Given the description of an element on the screen output the (x, y) to click on. 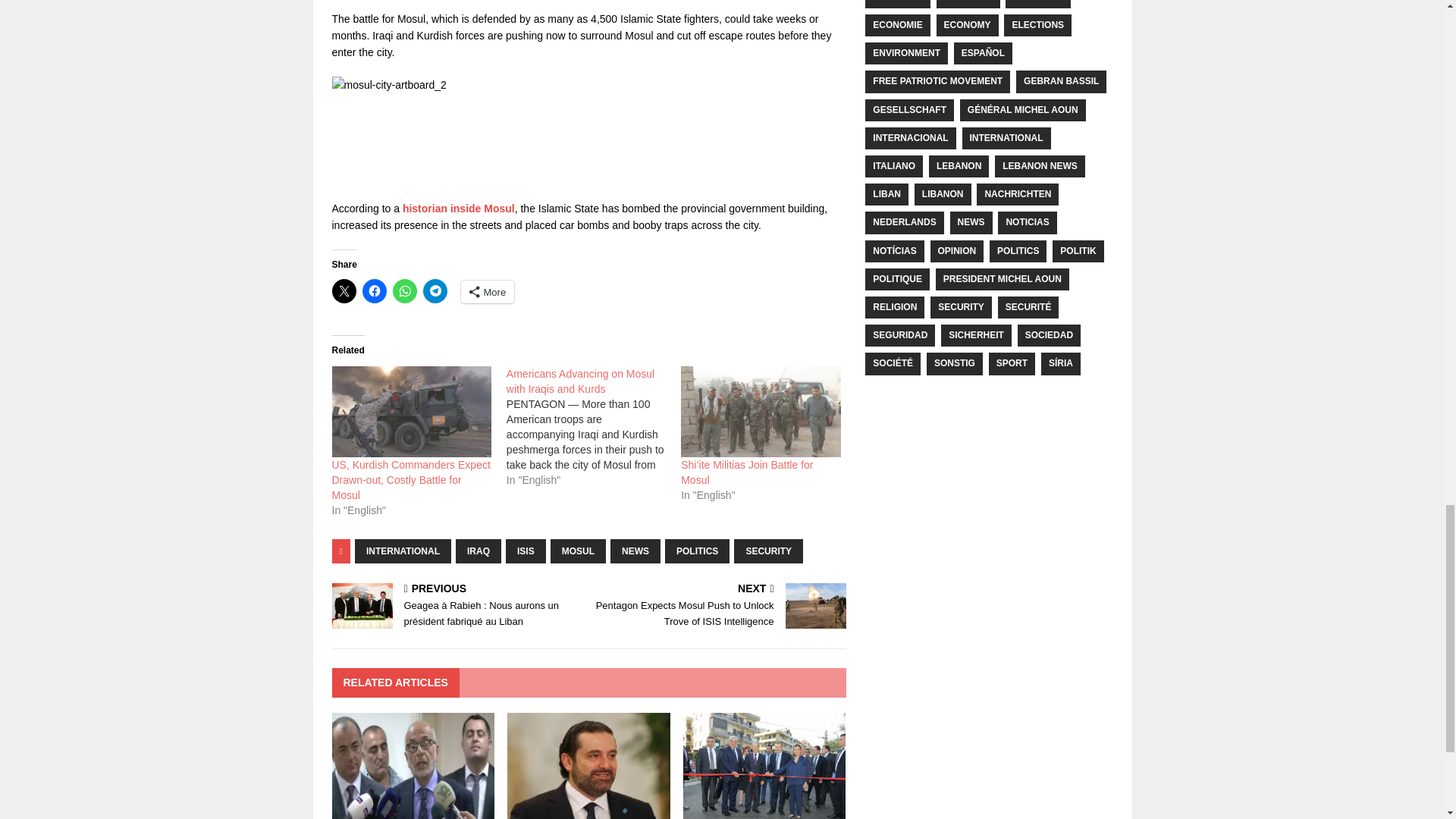
Click to share on X (343, 291)
Click to share on Facebook (374, 291)
